Given the description of an element on the screen output the (x, y) to click on. 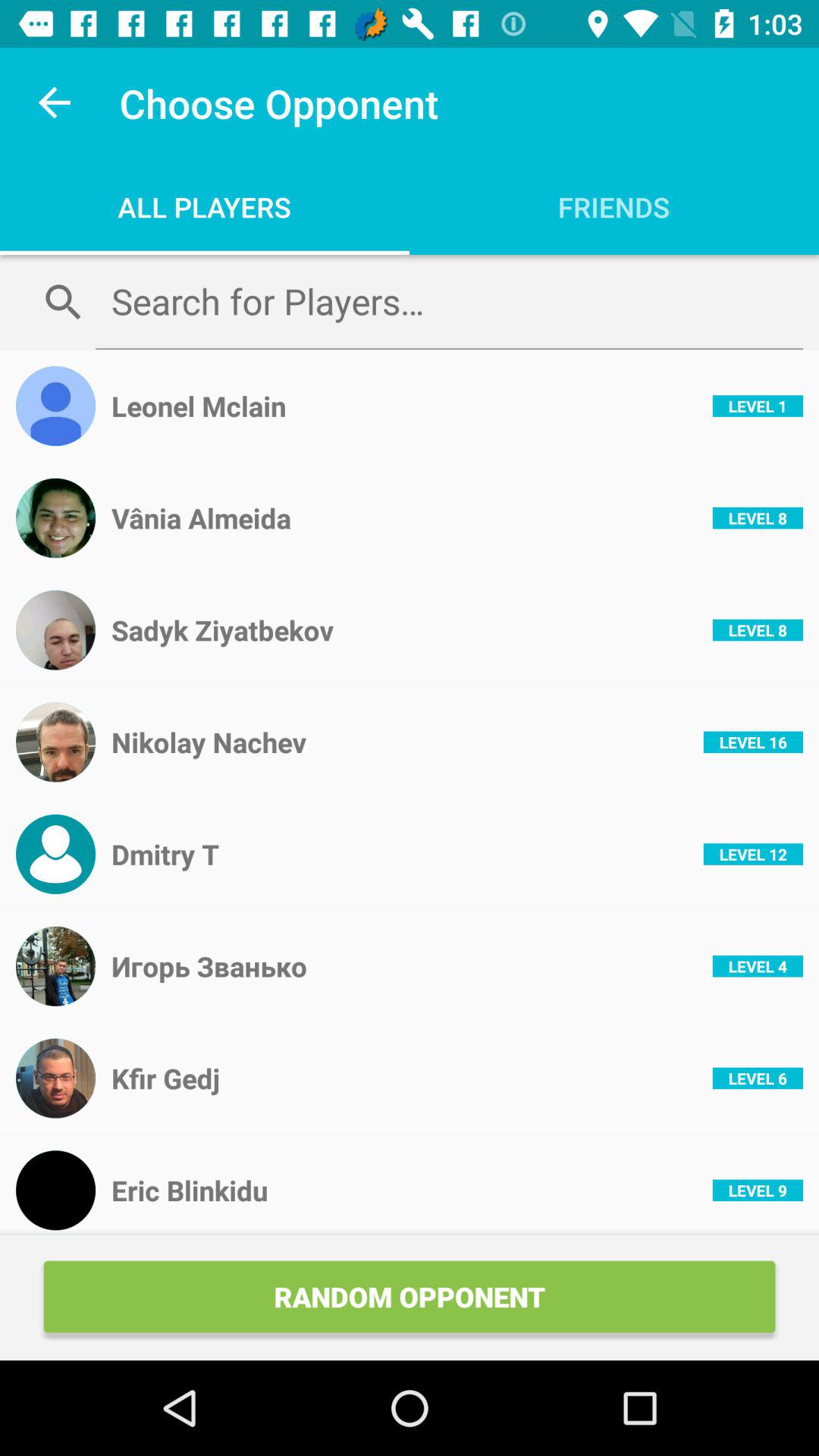
look for players in game (449, 301)
